Given the description of an element on the screen output the (x, y) to click on. 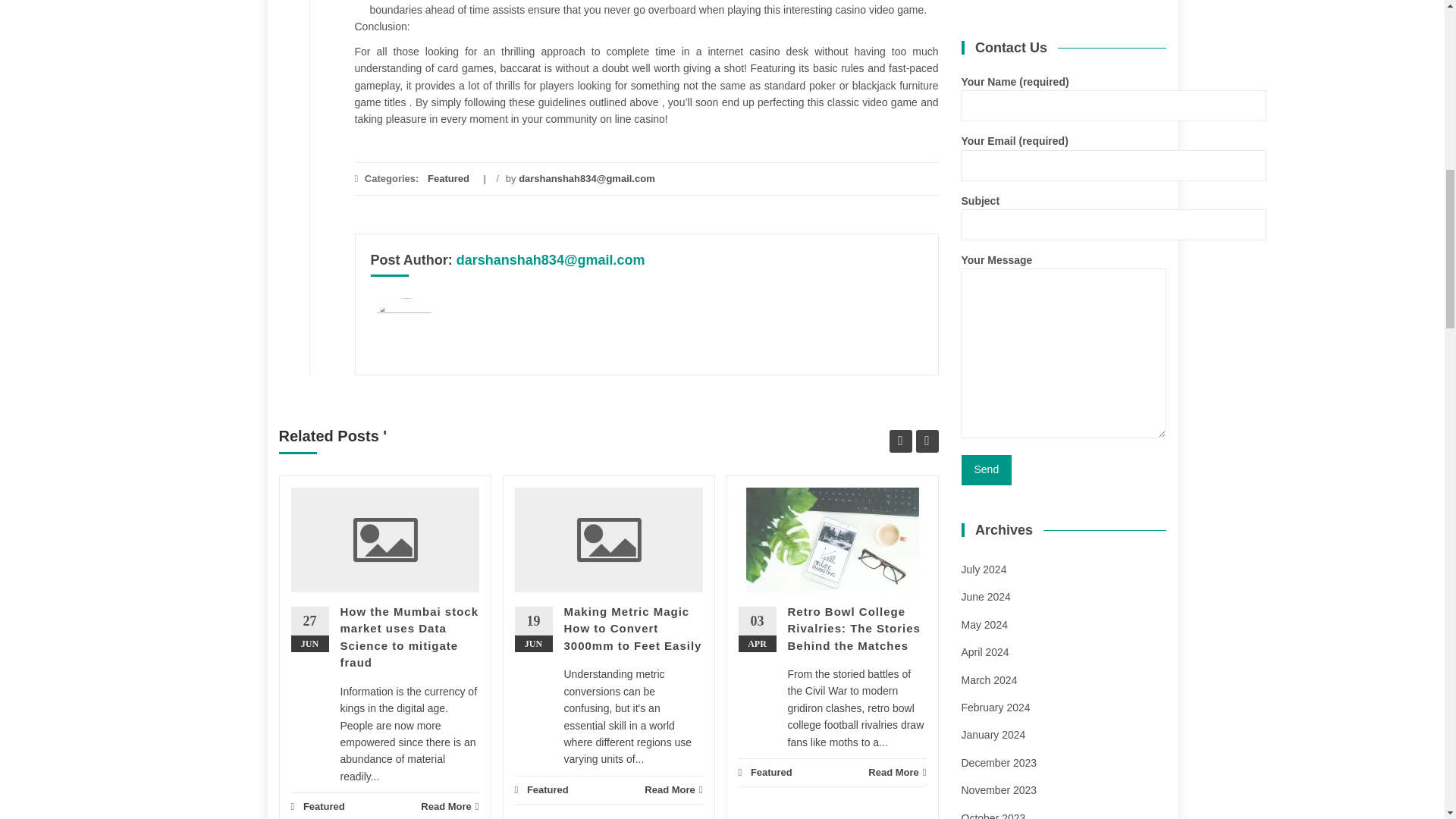
Featured (548, 789)
Featured (323, 806)
Making Metric Magic How to Convert 3000mm to Feet Easily (632, 628)
Featured (448, 178)
Send (985, 470)
Read More (673, 789)
Read More (449, 806)
